Given the description of an element on the screen output the (x, y) to click on. 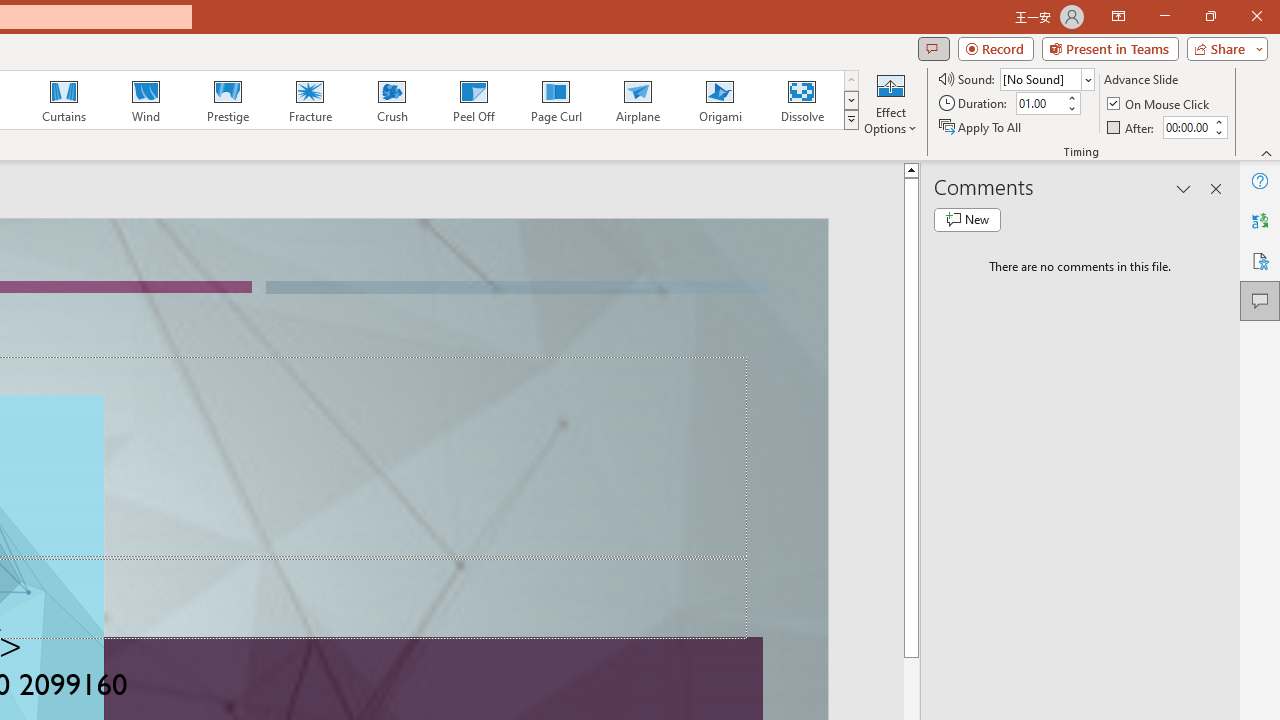
New comment (967, 219)
Effect Options (890, 102)
Dissolve (802, 100)
Ribbon Display Options (1118, 16)
Transition Effects (850, 120)
Task Pane Options (1183, 188)
Duration (1039, 103)
Comments (1260, 300)
More (1218, 121)
Curtains (63, 100)
Page Curl (555, 100)
Origami (719, 100)
Fracture (309, 100)
